Given the description of an element on the screen output the (x, y) to click on. 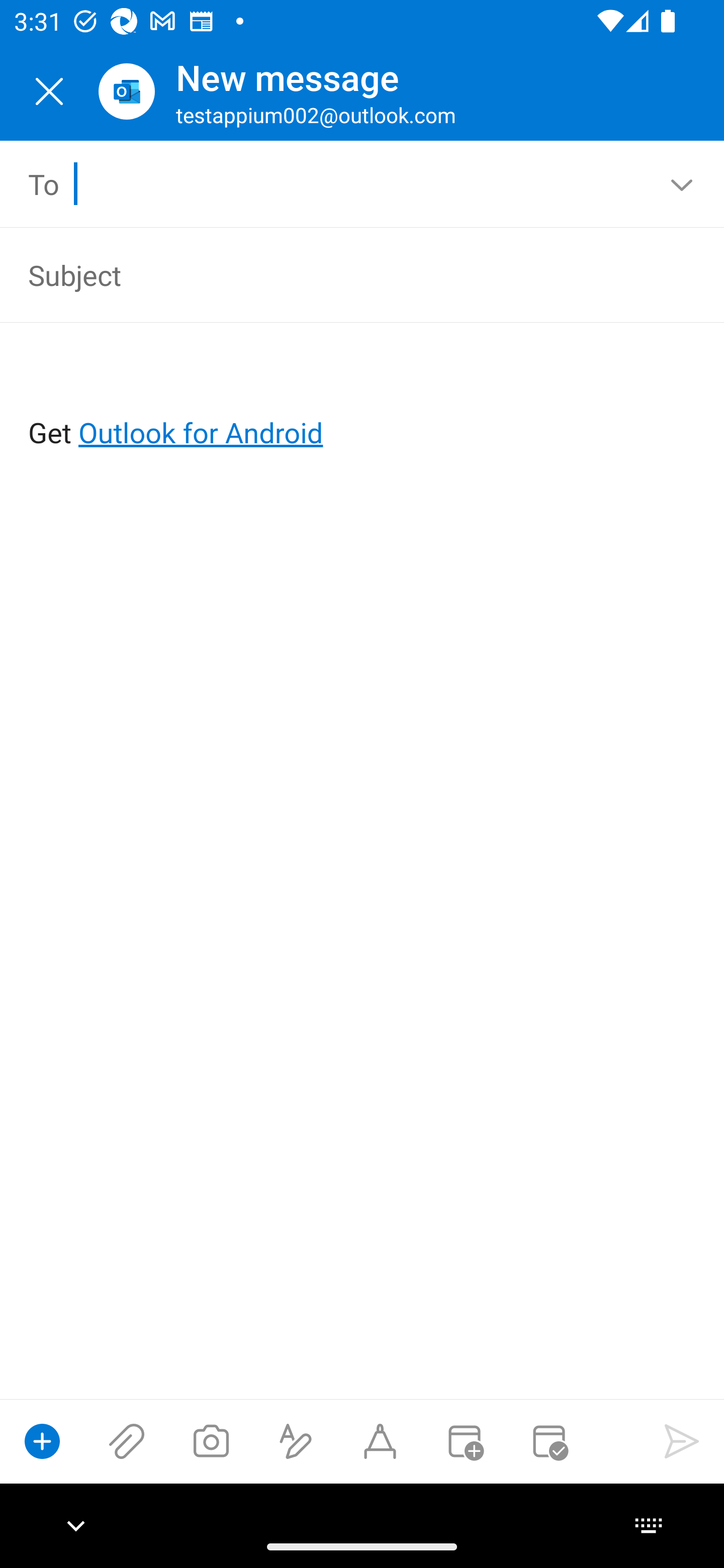
Close (49, 91)
Subject (333, 274)
Show compose options (42, 1440)
Attach files (126, 1440)
Take a photo (210, 1440)
Show formatting options (295, 1440)
Start Ink compose (380, 1440)
Convert to event (464, 1440)
Send availability (548, 1440)
Send (681, 1440)
